Given the description of an element on the screen output the (x, y) to click on. 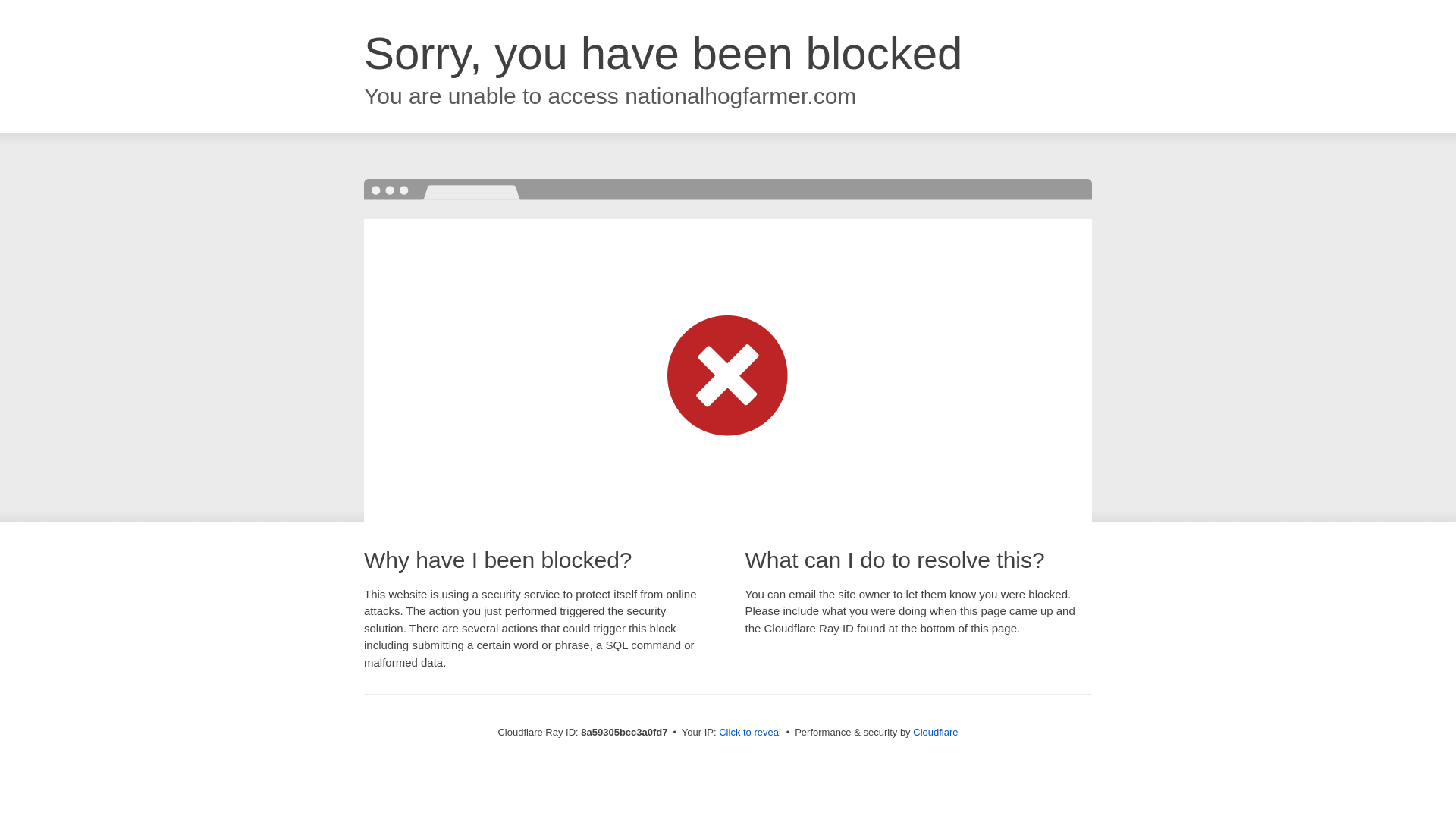
Click to reveal (749, 732)
Cloudflare (935, 731)
